Given the description of an element on the screen output the (x, y) to click on. 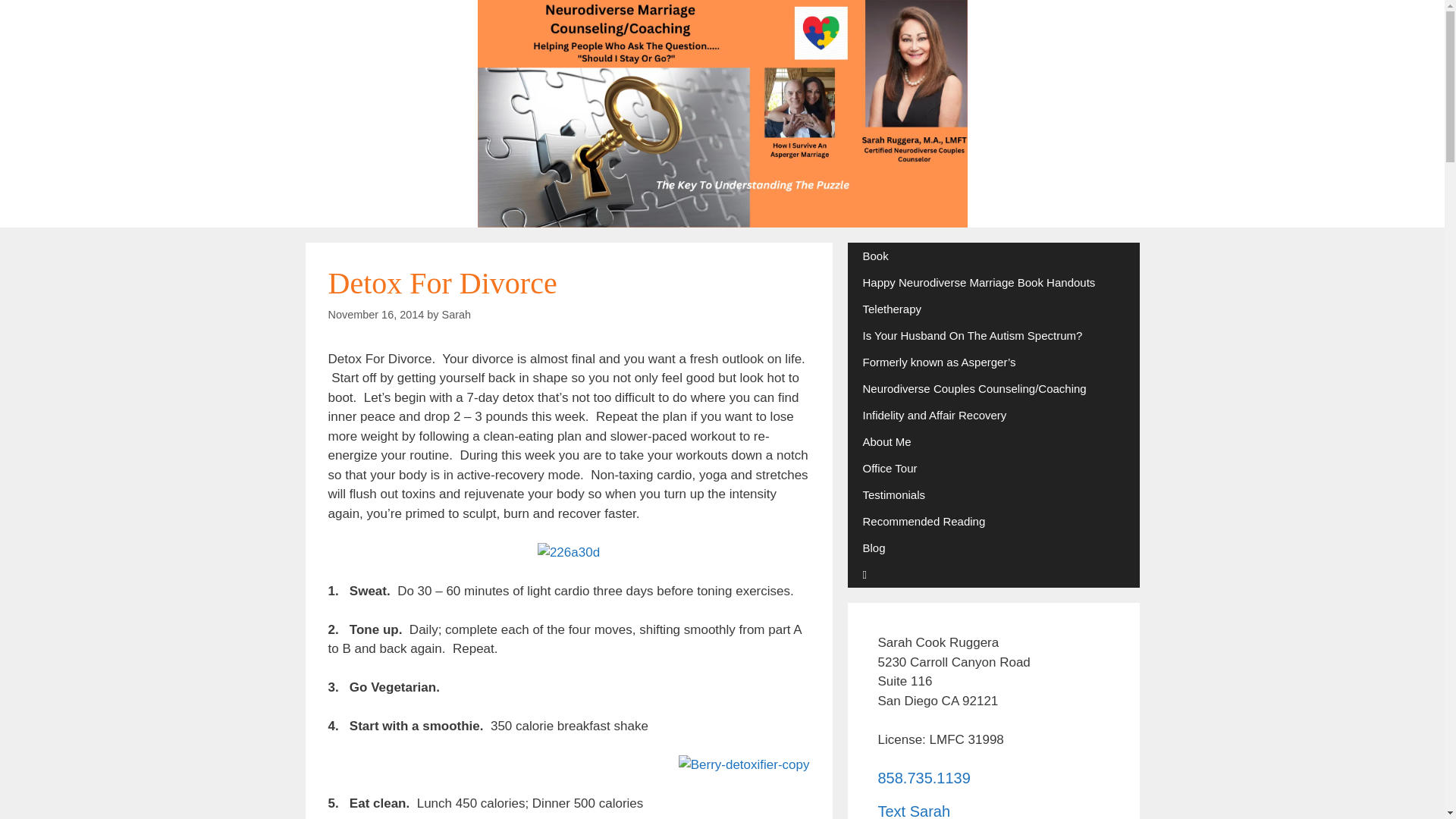
Book (993, 255)
Sarah (456, 314)
View all posts by Sarah (456, 314)
Testimonials (993, 494)
About Me (993, 441)
Teletherapy (993, 308)
Infidelity and Affair Recovery (993, 415)
Recommended Reading (993, 520)
Office Tour (993, 468)
Happy Neurodiverse Marriage Book Handouts (993, 282)
